Given the description of an element on the screen output the (x, y) to click on. 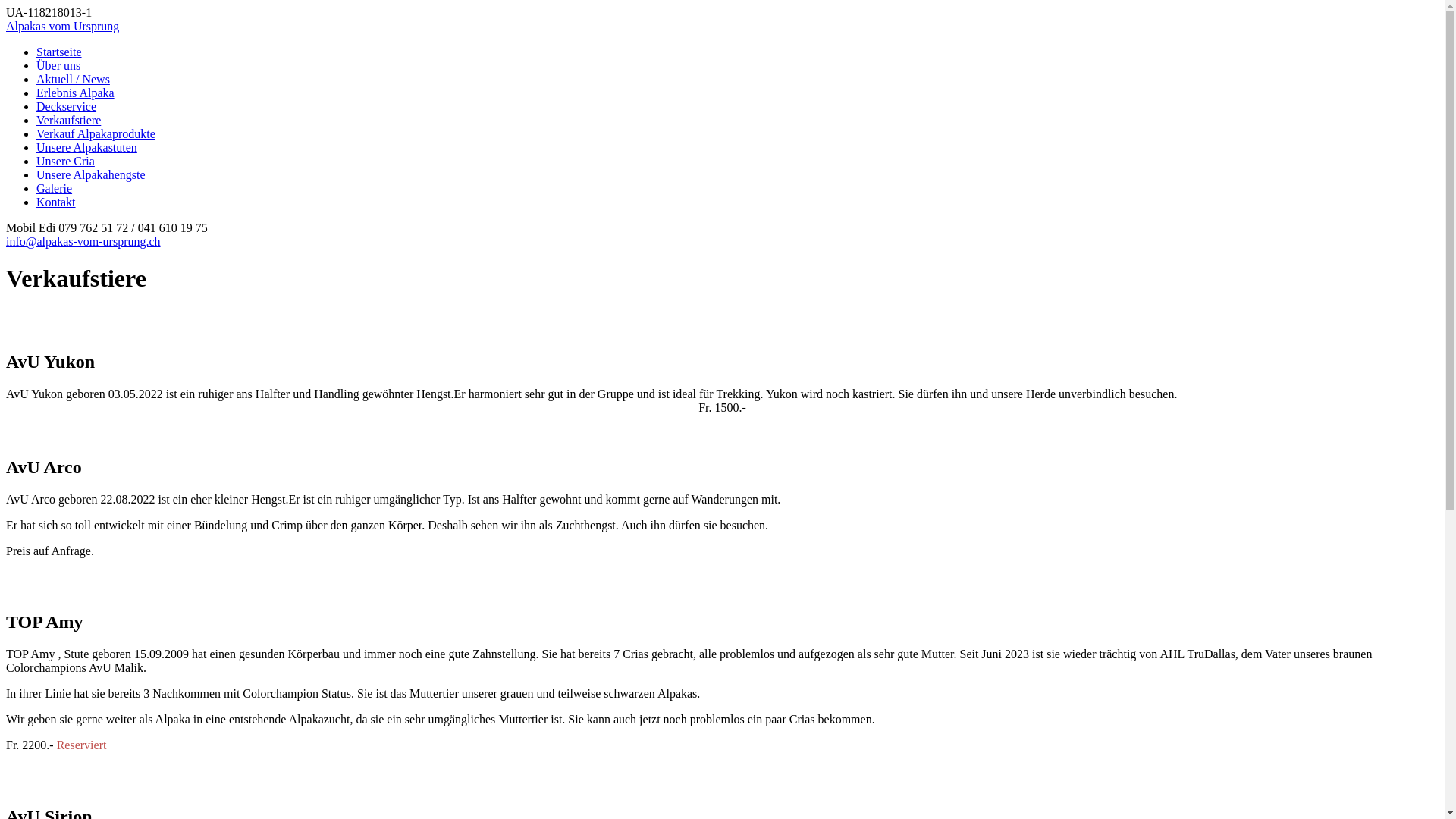
Aktuell / News Element type: text (72, 78)
Galerie Element type: text (54, 188)
Verkauf Alpakaprodukte Element type: text (95, 133)
Unsere Cria Element type: text (65, 160)
info@alpakas-vom-ursprung.ch Element type: text (83, 241)
Alpakas vom Ursprung Element type: text (62, 25)
Unsere Alpakahengste Element type: text (90, 174)
Kontakt Element type: text (55, 201)
Unsere Alpakastuten Element type: text (86, 147)
Verkaufstiere Element type: text (68, 119)
Erlebnis Alpaka Element type: text (75, 92)
Startseite Element type: text (58, 51)
Deckservice Element type: text (66, 106)
